Given the description of an element on the screen output the (x, y) to click on. 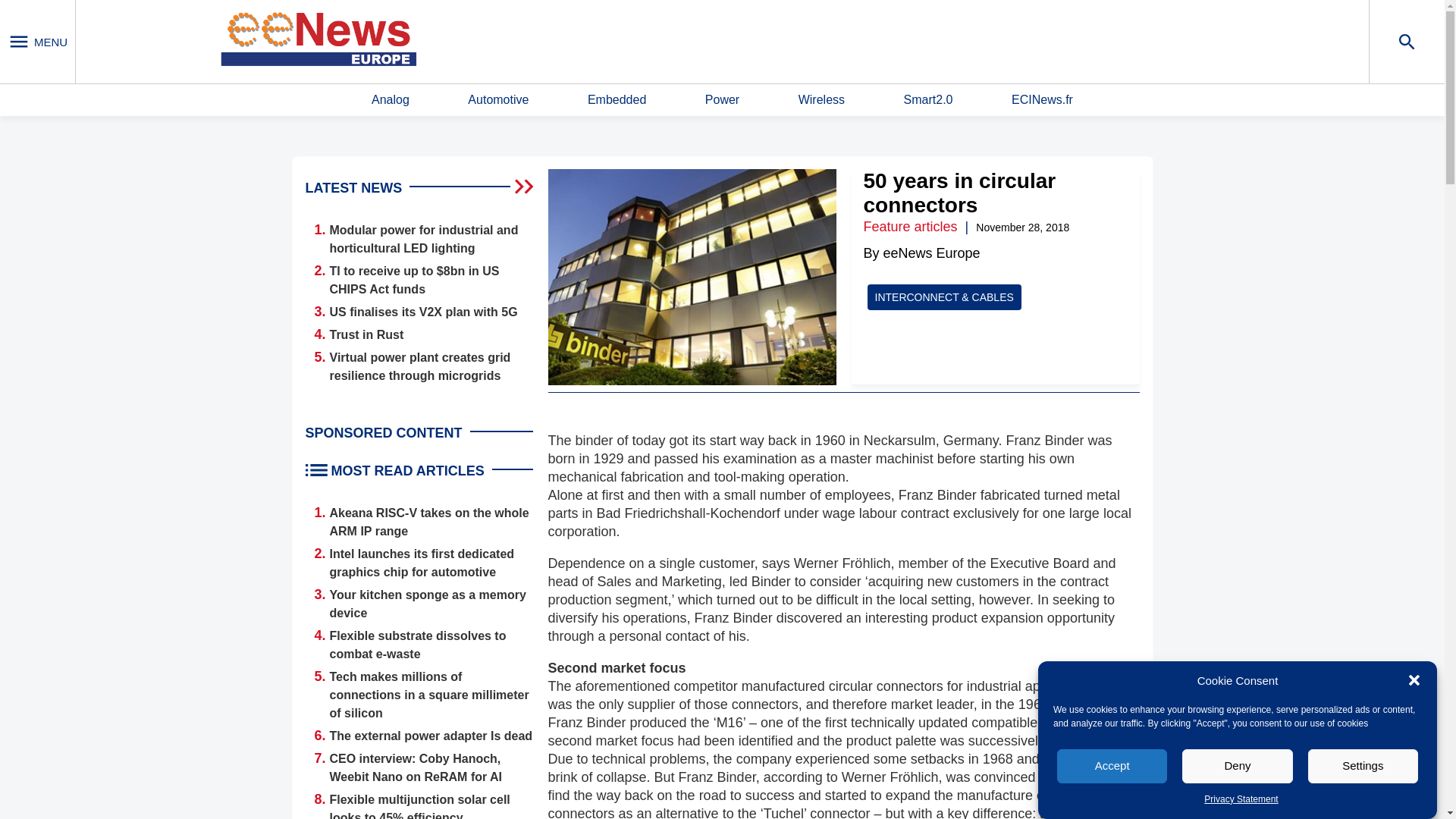
Smart2.0 (928, 99)
Wireless (820, 99)
Automotive (497, 99)
Analog (390, 99)
Power (721, 99)
Embedded (617, 99)
ECINews.fr (1042, 99)
